Given the description of an element on the screen output the (x, y) to click on. 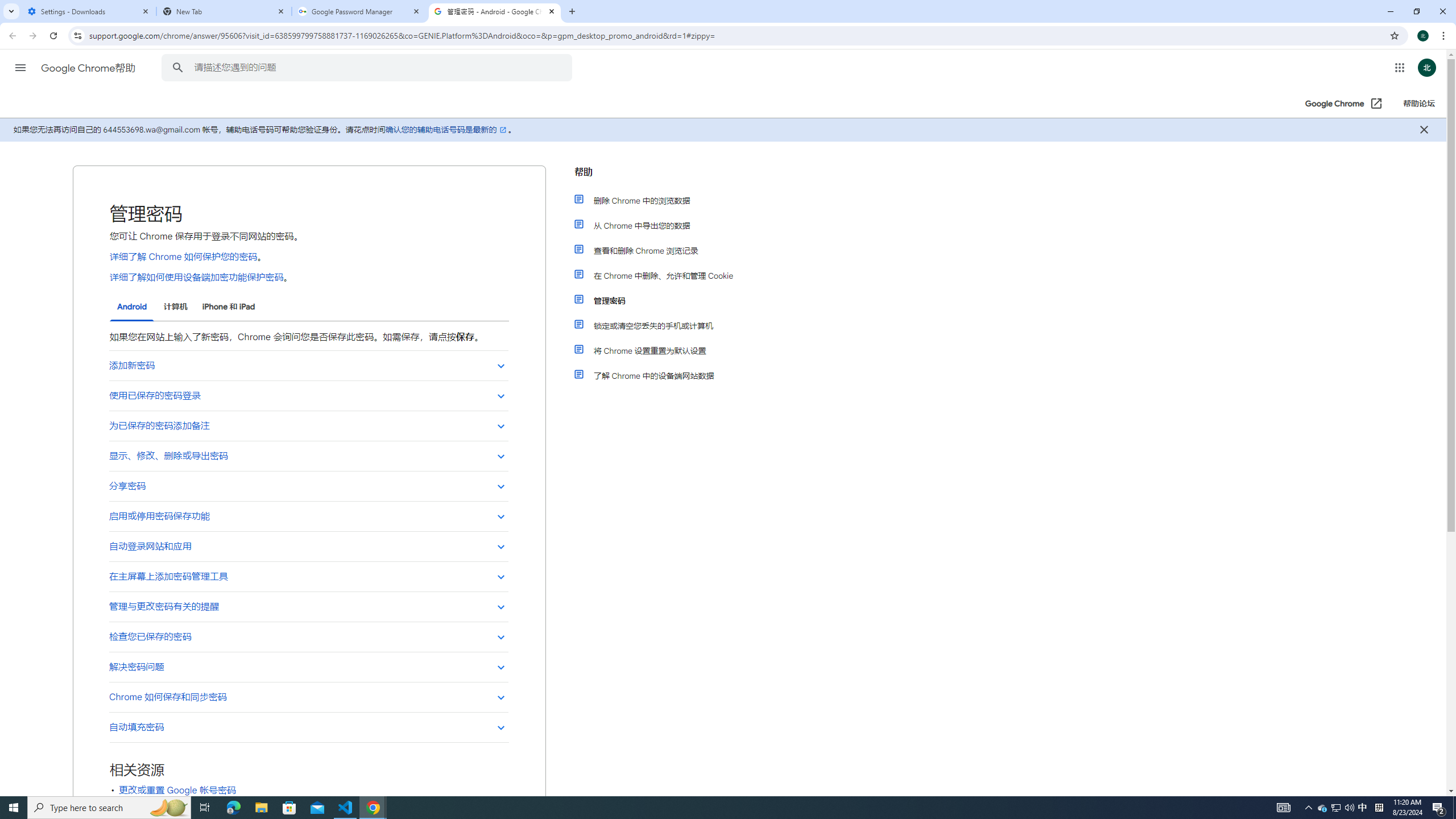
Google Password Manager (359, 11)
Android (131, 307)
